Given the description of an element on the screen output the (x, y) to click on. 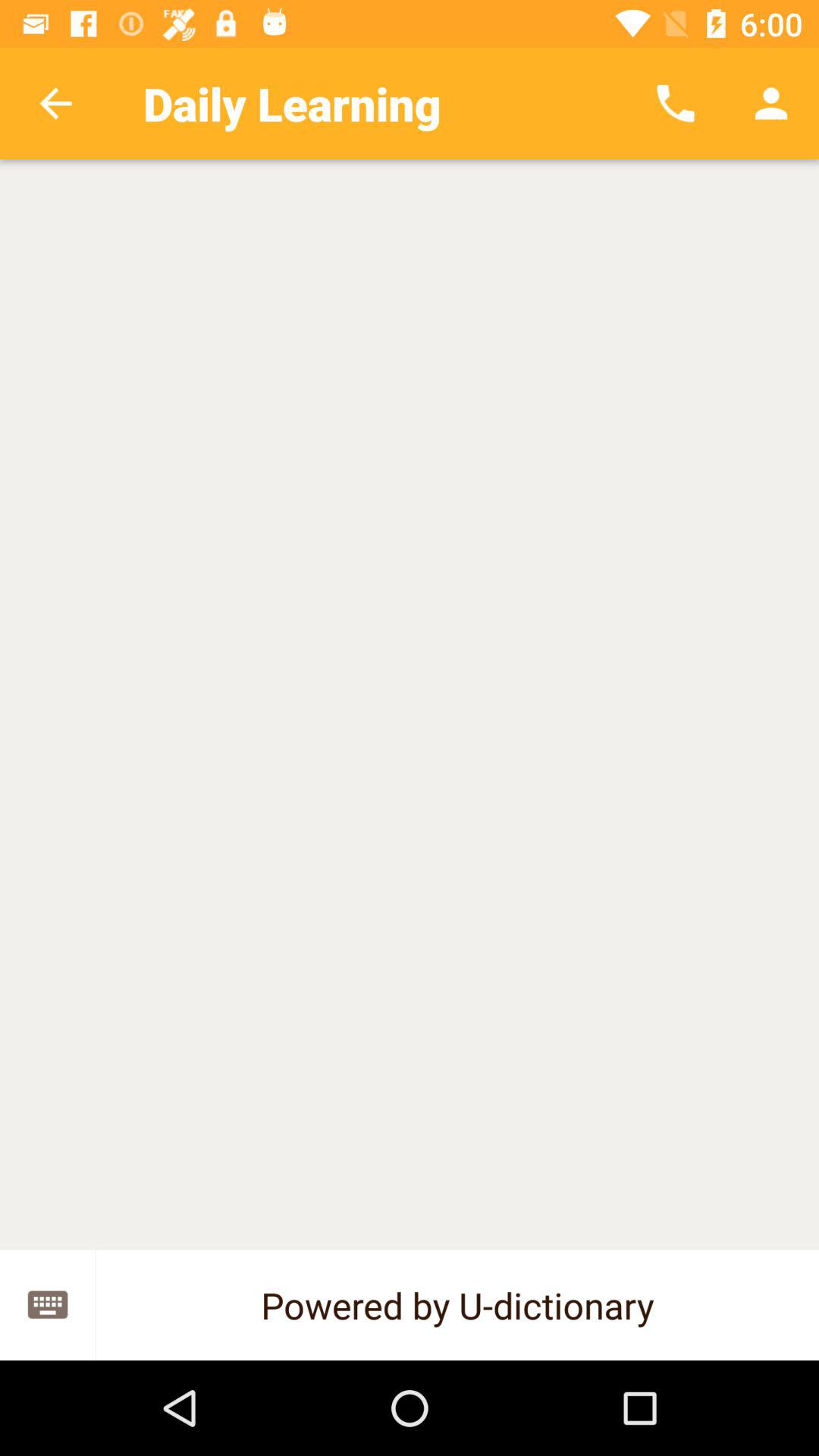
press the icon next to the daily learning icon (675, 103)
